Given the description of an element on the screen output the (x, y) to click on. 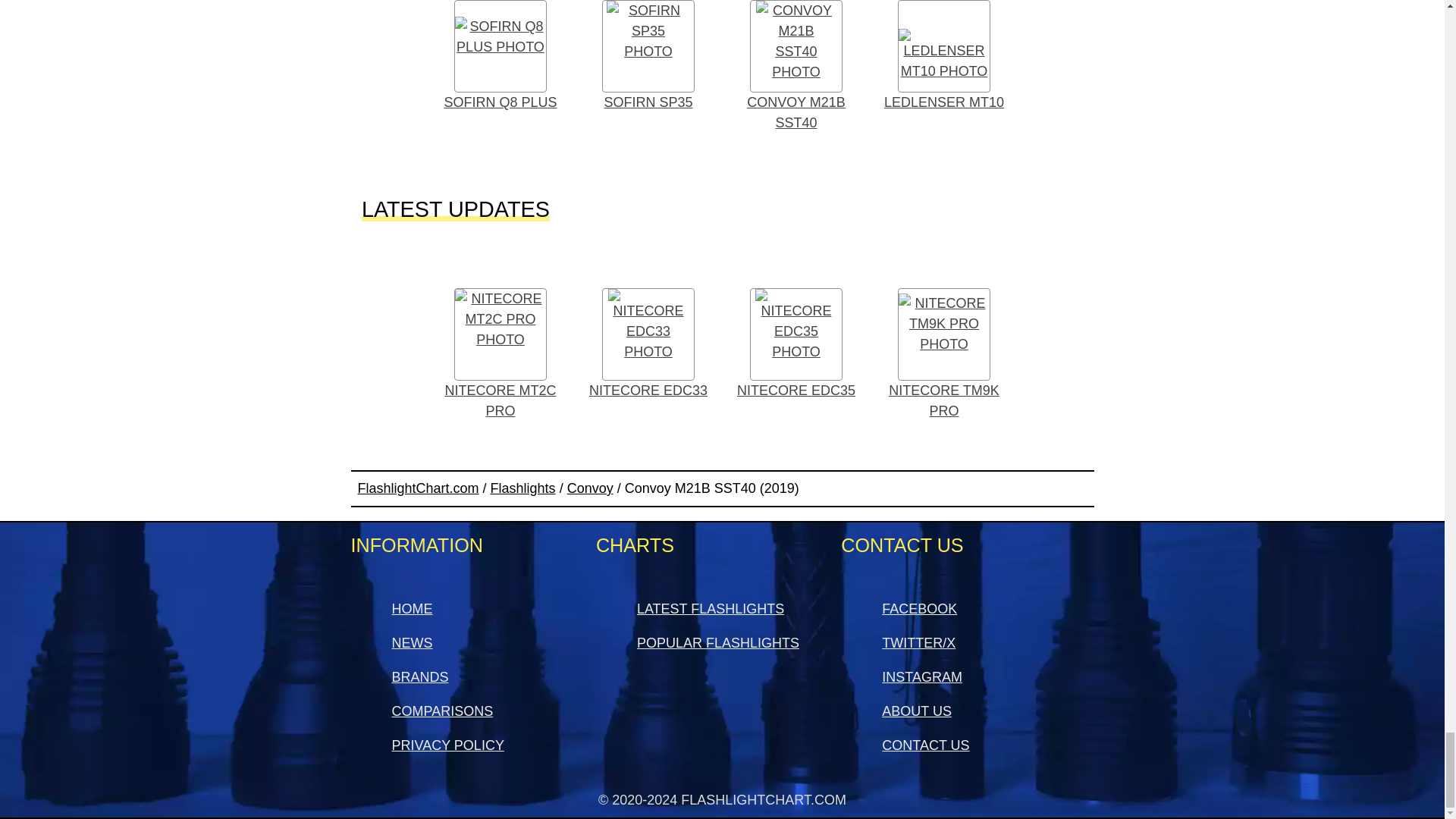
NITECORE EDC33 (648, 344)
LATEST FLASHLIGHTS (710, 608)
ABOUT US (917, 711)
HOME (411, 608)
FlashlightChart.com (418, 488)
BRANDS (419, 676)
NITECORE MT2C PRO (500, 354)
FACEBOOK (919, 608)
POPULAR FLASHLIGHTS (718, 642)
COMPARISONS (442, 711)
INSTAGRAM (922, 676)
NEWS (411, 642)
SOFIRN SP35 (648, 60)
CONTACT US (925, 744)
Flashlights (523, 488)
